Given the description of an element on the screen output the (x, y) to click on. 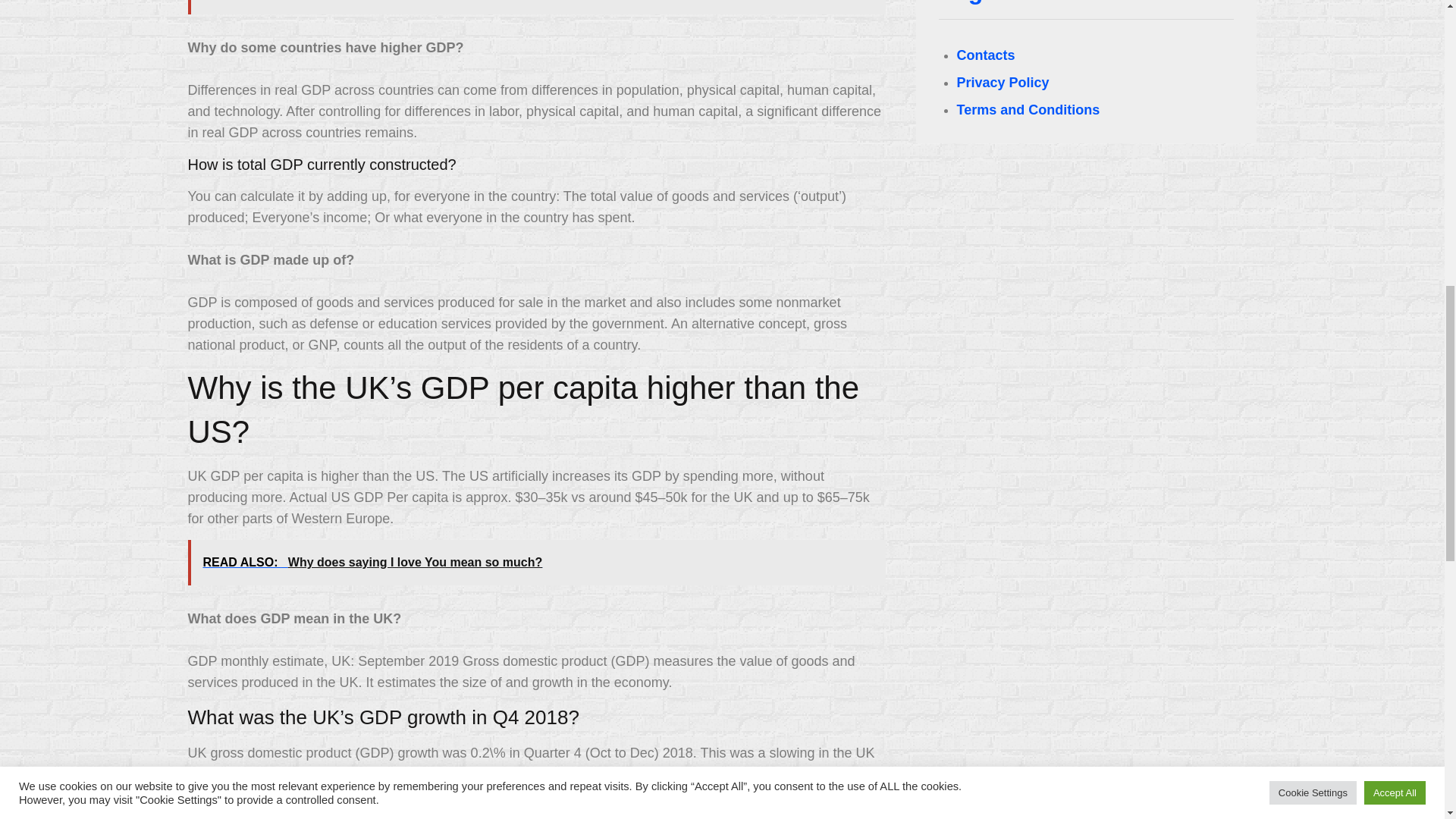
READ ALSO:   What are the 3 aspects of color? (536, 7)
READ ALSO:   Why does saying I love You mean so much? (536, 562)
